Given the description of an element on the screen output the (x, y) to click on. 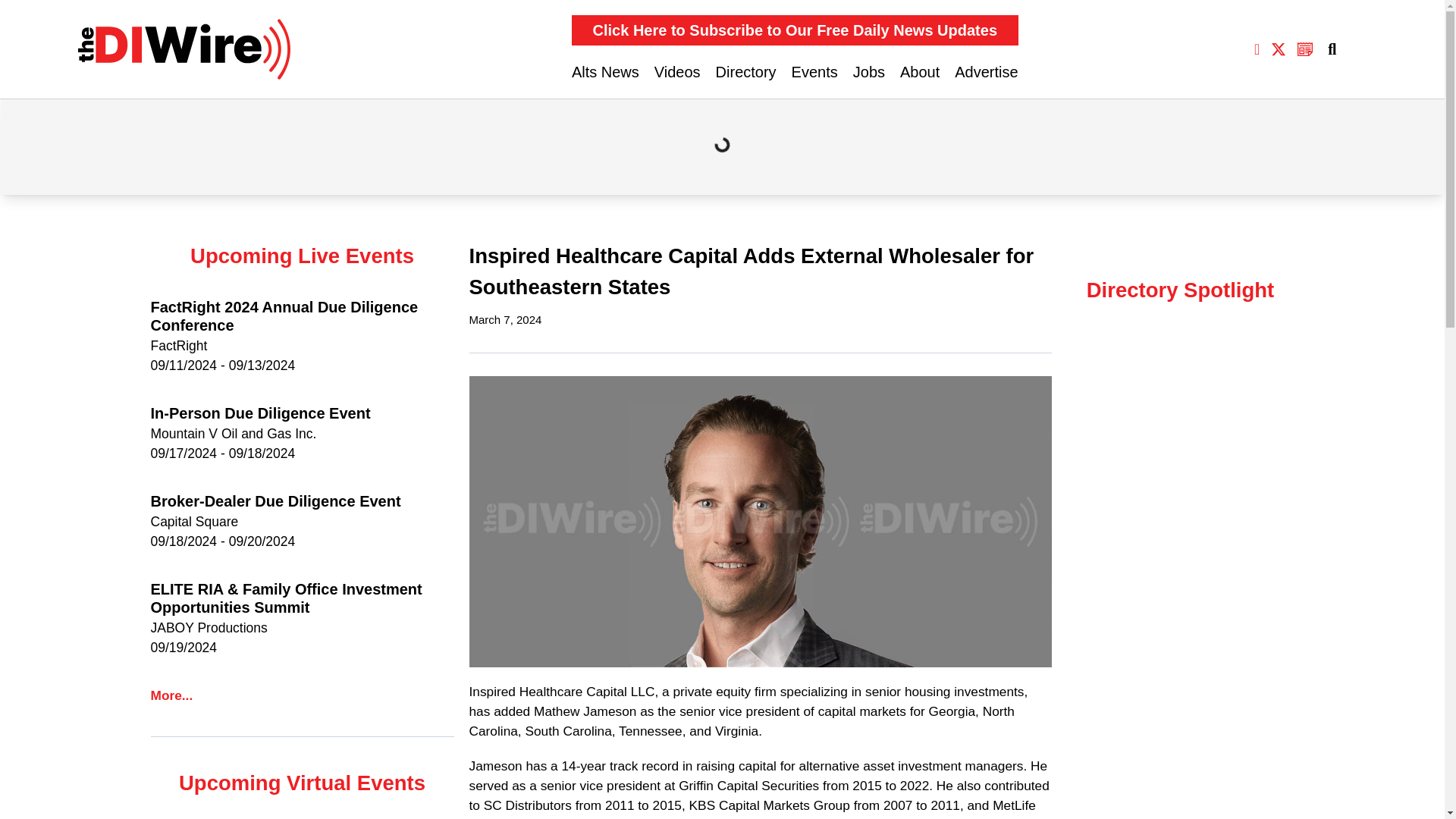
Events (815, 71)
Alts News (605, 71)
Directory (746, 71)
Jobs (869, 71)
FactRight 2024 Annual Due Diligence Conference (300, 316)
Videos (676, 71)
Advertise (986, 71)
Broker-Dealer Due Diligence Event (300, 501)
In-Person Due Diligence Event (300, 413)
